Given the description of an element on the screen output the (x, y) to click on. 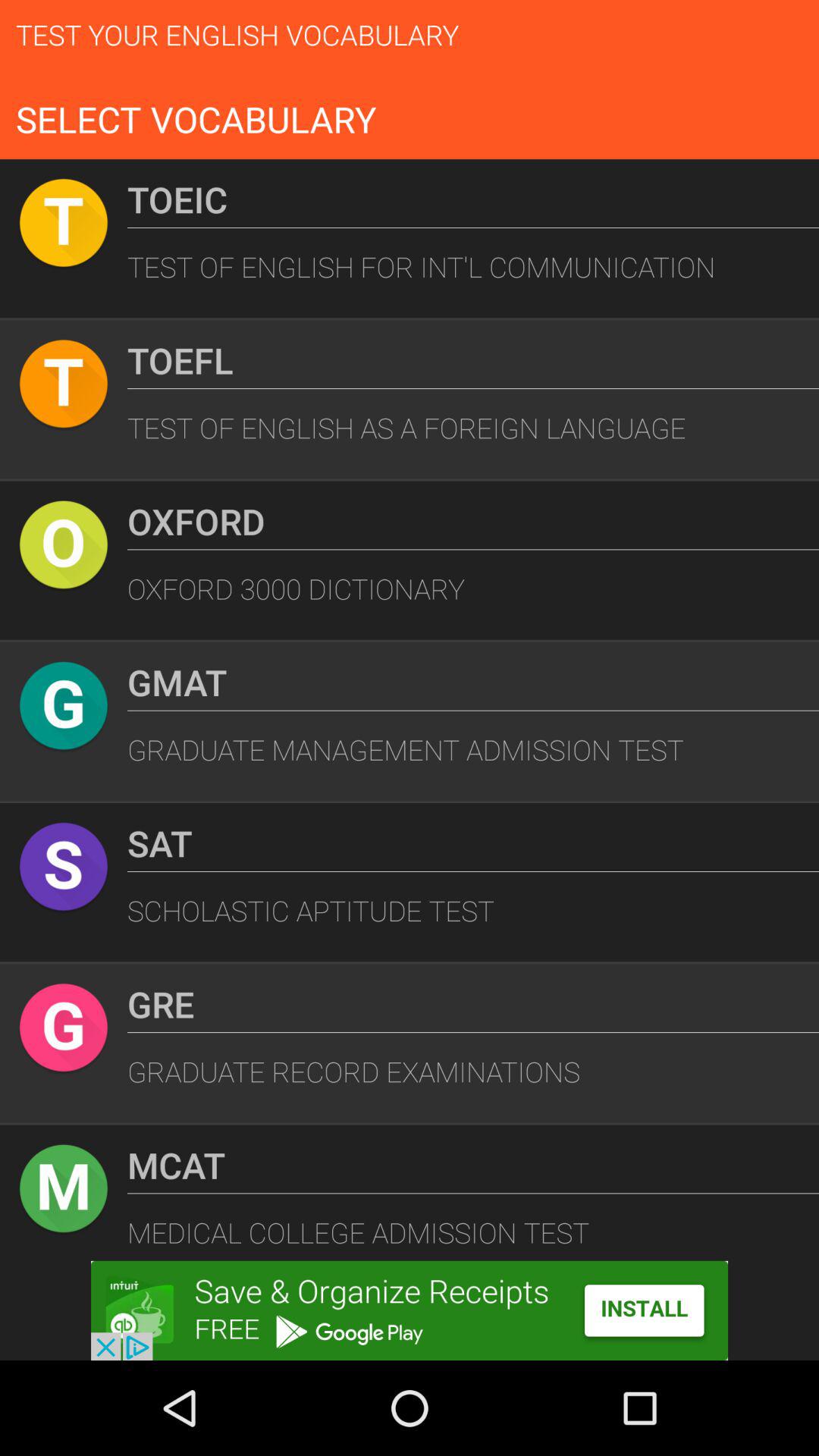
advertisement banner (409, 1310)
